Given the description of an element on the screen output the (x, y) to click on. 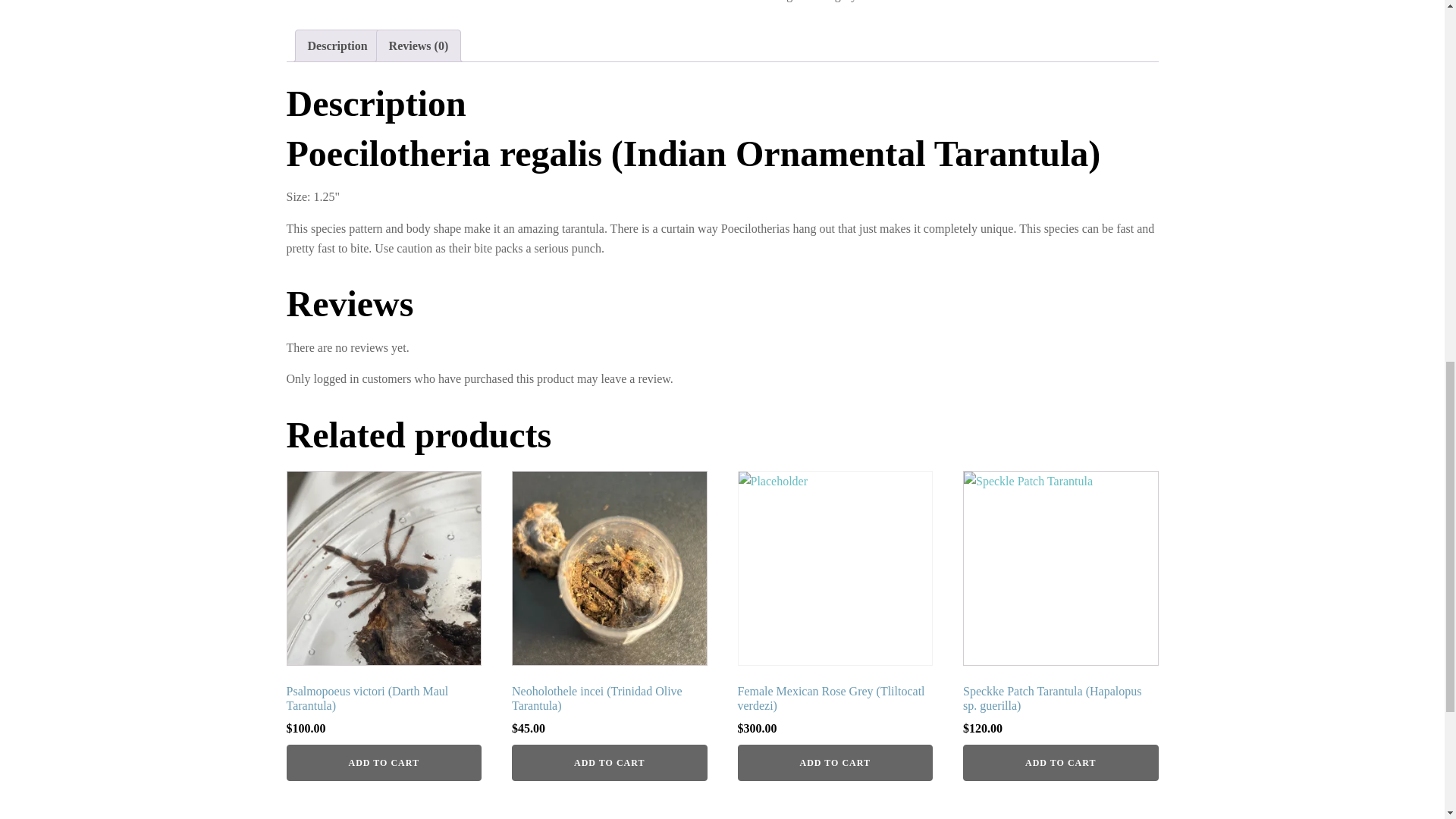
ADD TO CART (383, 762)
Description (337, 46)
ADD TO CART (834, 762)
ADD TO CART (609, 762)
Tarantulas (887, 0)
ADD TO CART (1060, 762)
